Given the description of an element on the screen output the (x, y) to click on. 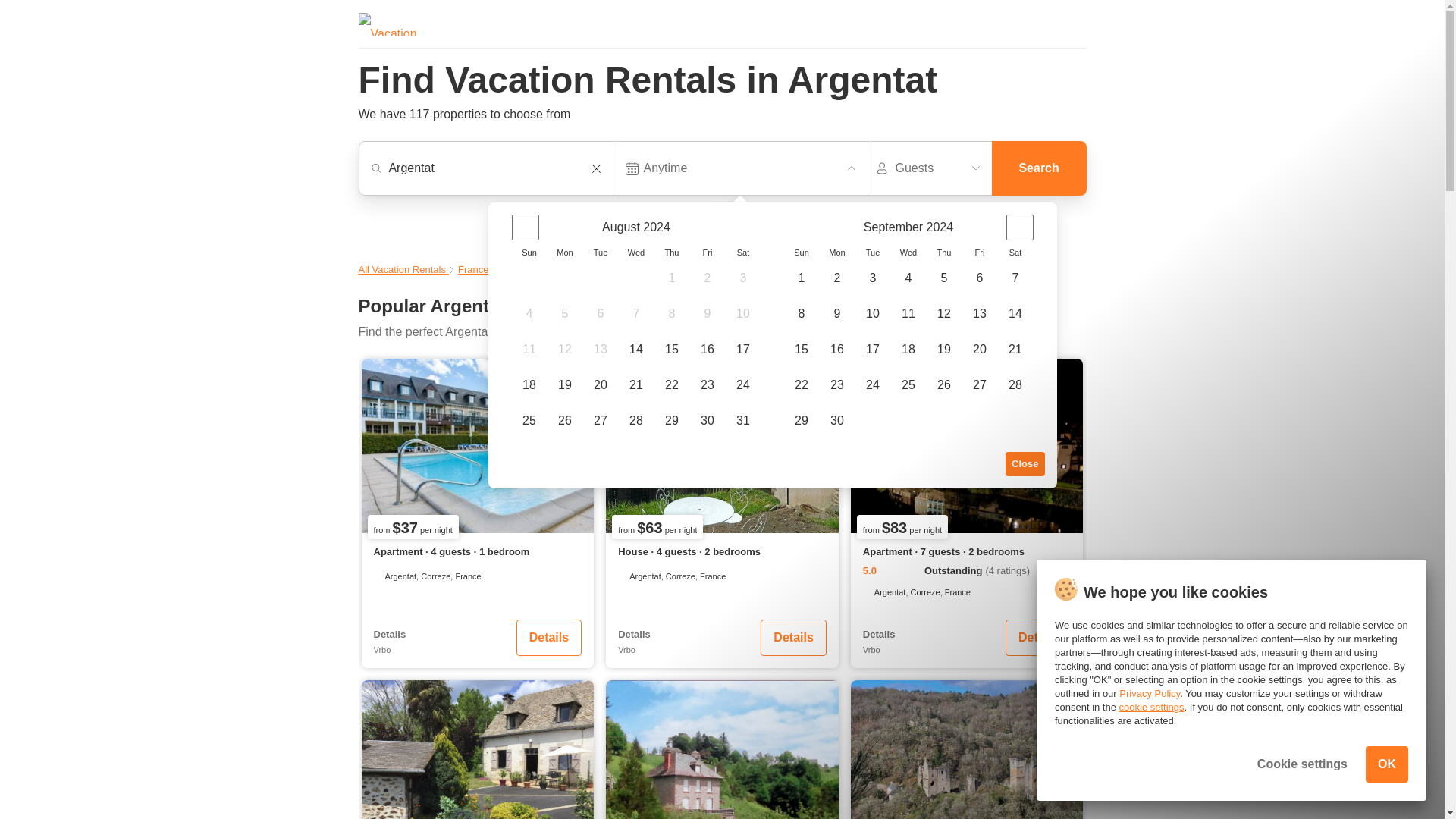
Thu (670, 252)
Argentat (493, 167)
Mon (836, 252)
Cookie settings (1302, 764)
Sat (1015, 252)
Mon (564, 252)
Wed (908, 252)
Sun (801, 252)
Limousin (521, 269)
Fri (708, 252)
